Given the description of an element on the screen output the (x, y) to click on. 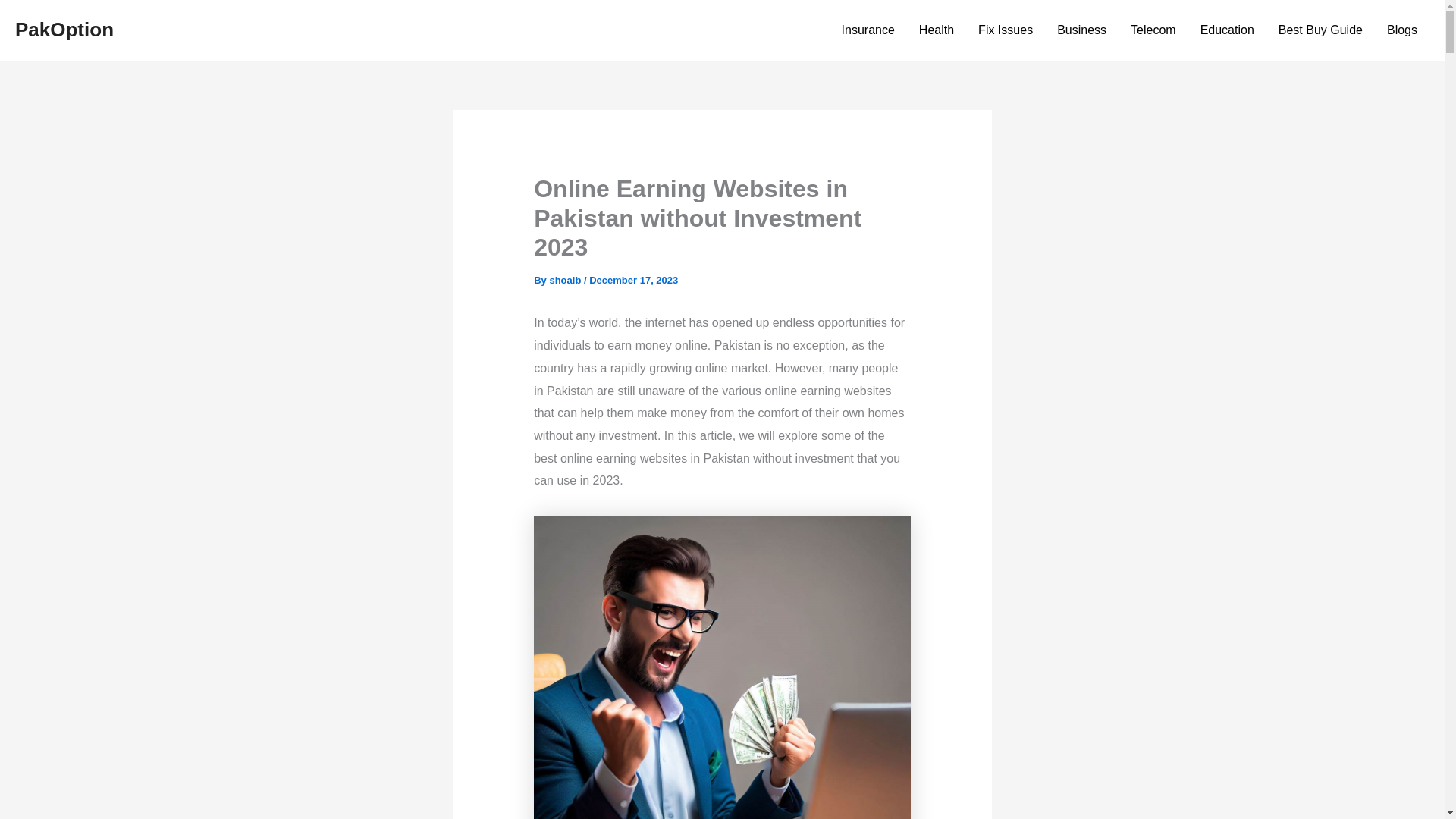
shoaib (565, 279)
Fix Issues (1005, 30)
Education (1227, 30)
Insurance (868, 30)
Blogs (1401, 30)
Business (1081, 30)
View all posts by shoaib (565, 279)
Best Buy Guide (1320, 30)
Telecom (1153, 30)
Health (936, 30)
PakOption (63, 29)
